Given the description of an element on the screen output the (x, y) to click on. 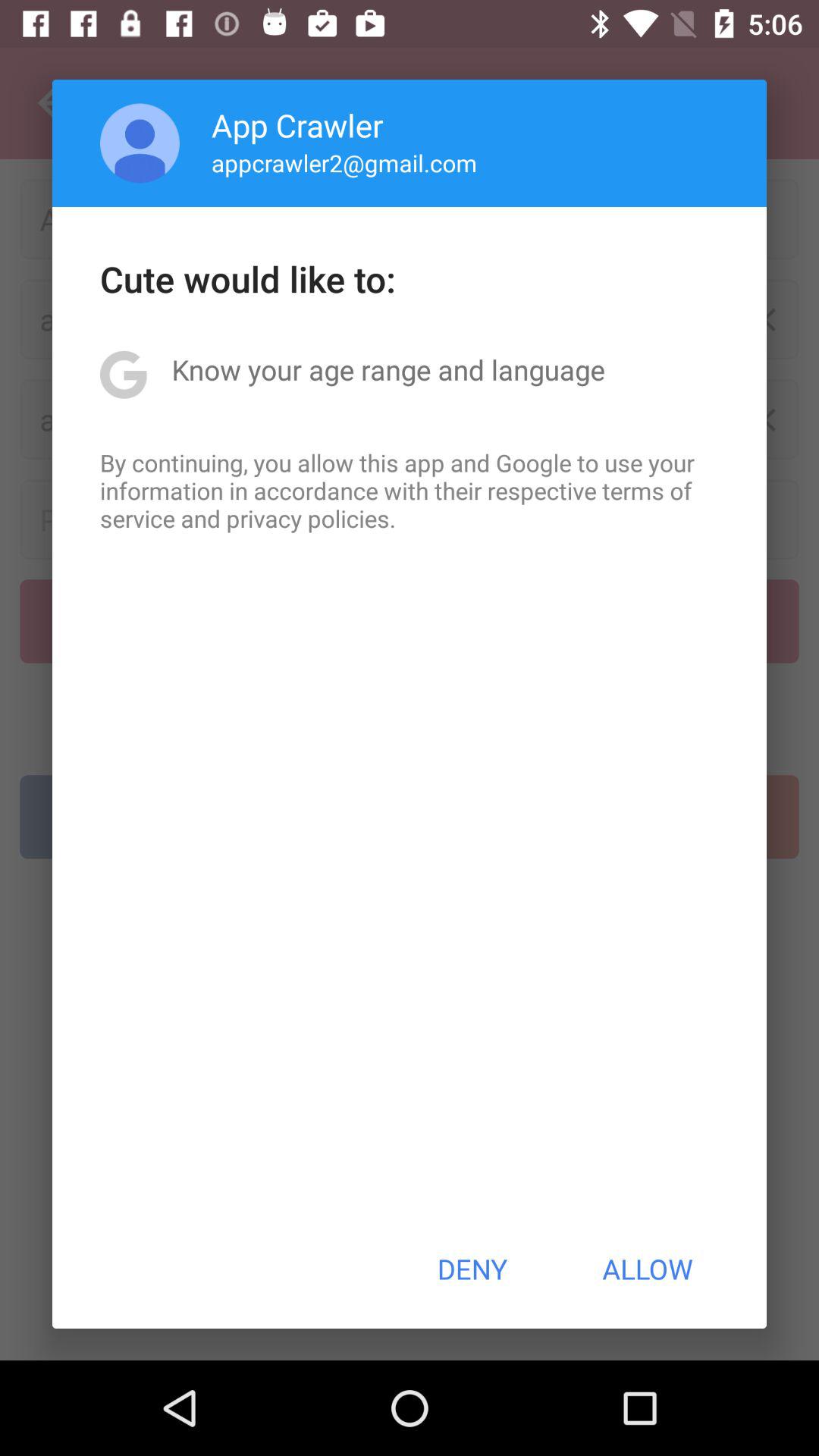
turn on deny at the bottom (471, 1268)
